Given the description of an element on the screen output the (x, y) to click on. 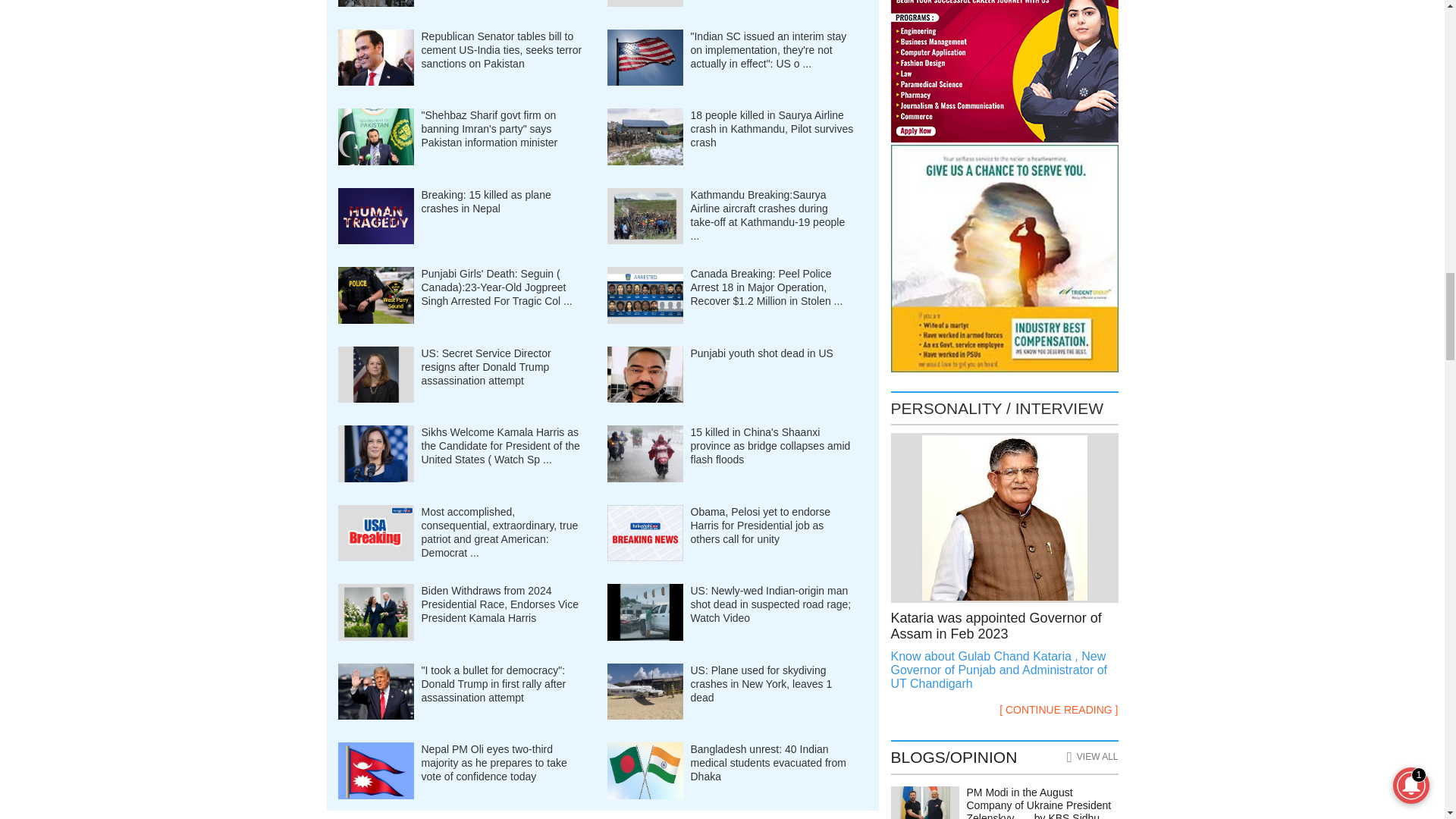
Continue Reading (1003, 626)
Continue Reading (1058, 709)
Continue Reading (1003, 670)
